Given the description of an element on the screen output the (x, y) to click on. 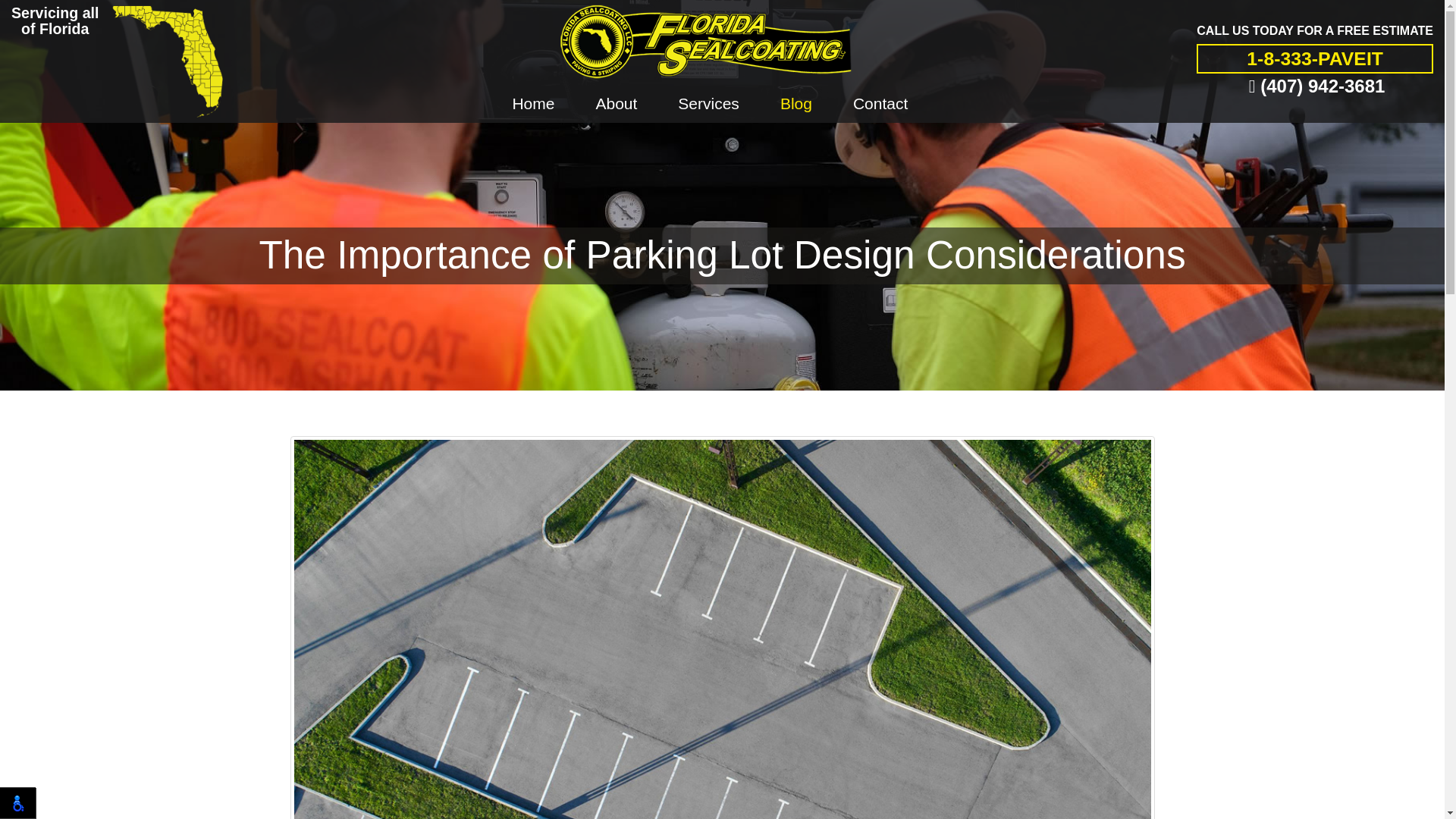
Blog (796, 103)
Contact (879, 103)
Services (708, 103)
About (615, 103)
Contact (879, 103)
About (615, 103)
1-8-333-PAVEIT (1314, 58)
Services (708, 103)
Home (533, 103)
Blog (796, 103)
Home (533, 103)
